Given the description of an element on the screen output the (x, y) to click on. 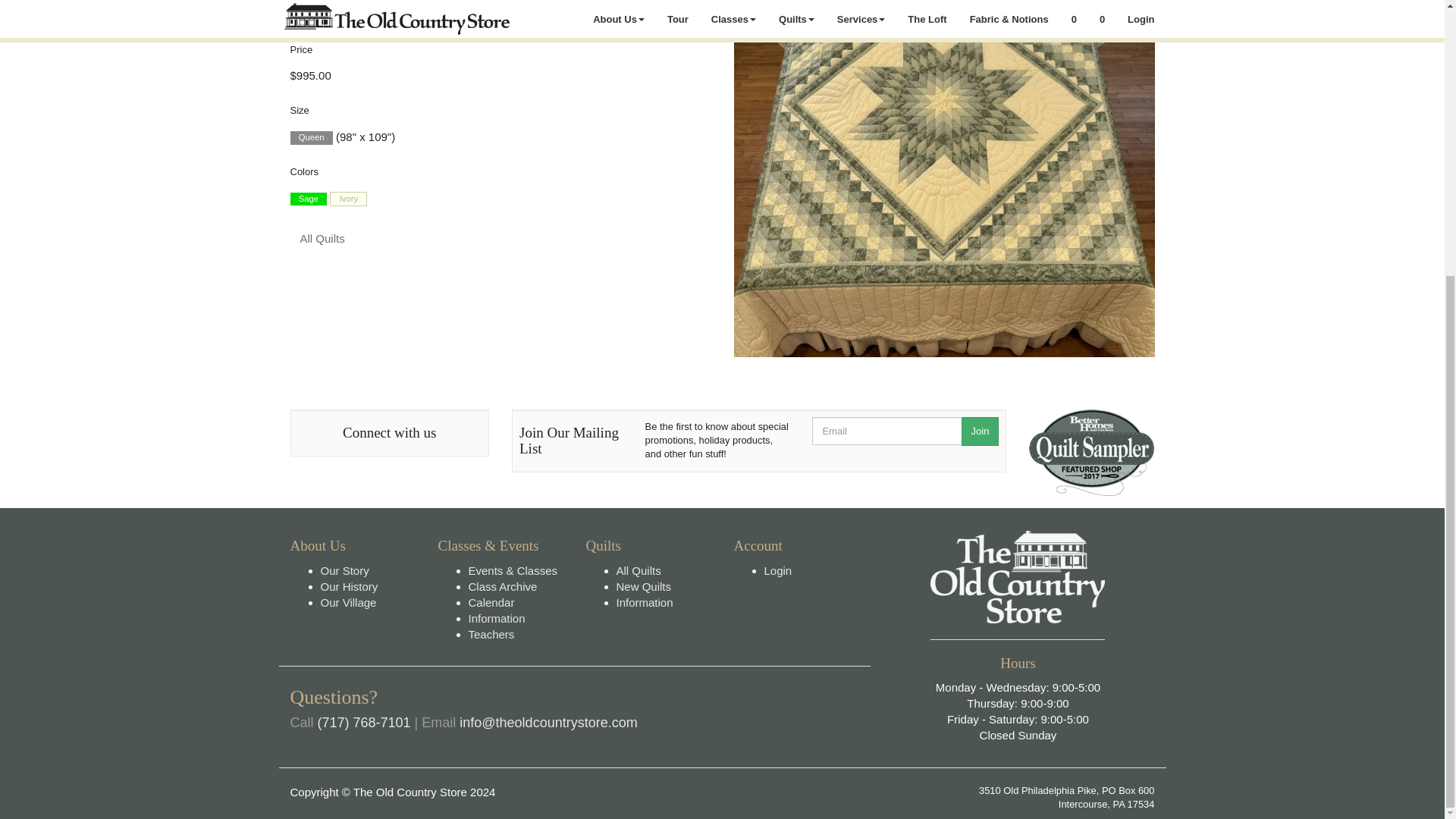
Ivory (348, 199)
Join (979, 430)
All Quilts (321, 238)
Queen (310, 137)
Sage (307, 199)
